Given the description of an element on the screen output the (x, y) to click on. 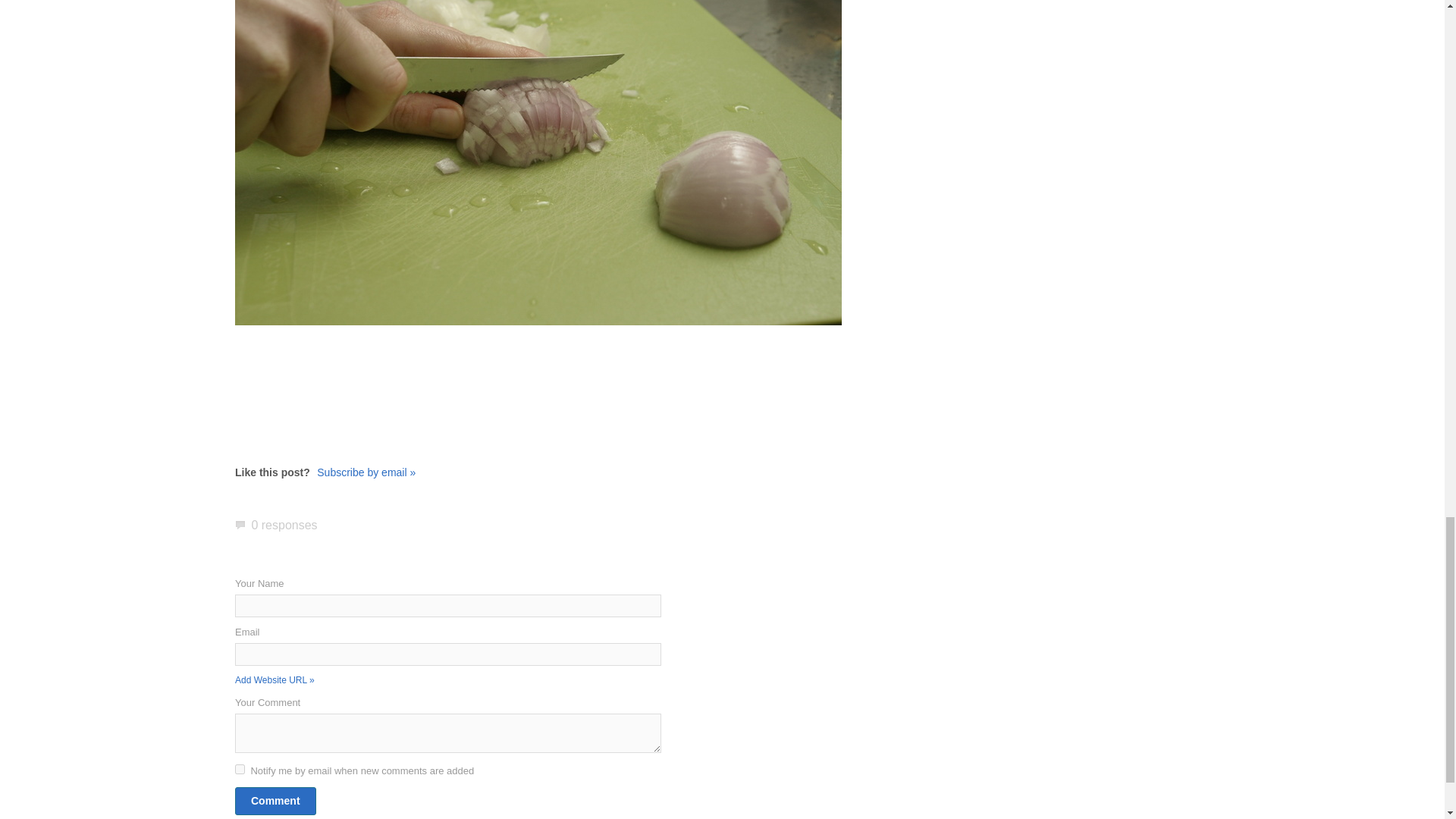
Comment (274, 800)
true (239, 768)
Comment (274, 800)
